Given the description of an element on the screen output the (x, y) to click on. 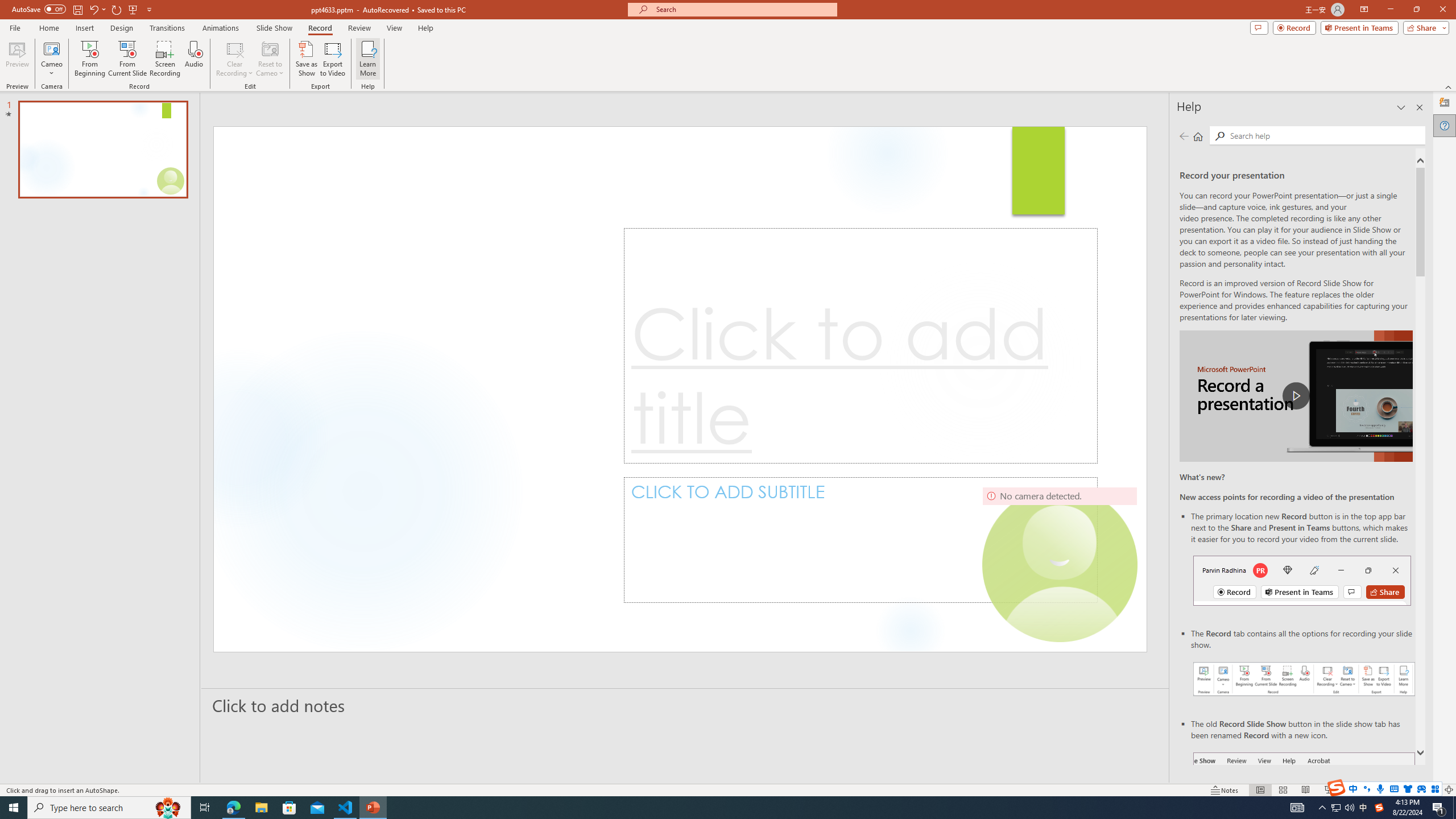
Home (1198, 136)
Zoom Out (1365, 790)
File Tab (15, 27)
Search (1325, 135)
Quick Access Toolbar (82, 9)
More Options (51, 68)
Collapse the Ribbon (1448, 86)
Help (1444, 125)
From Current Slide... (127, 58)
Notes  (1225, 790)
Zoom In (1412, 790)
Reading View (1305, 790)
